Given the description of an element on the screen output the (x, y) to click on. 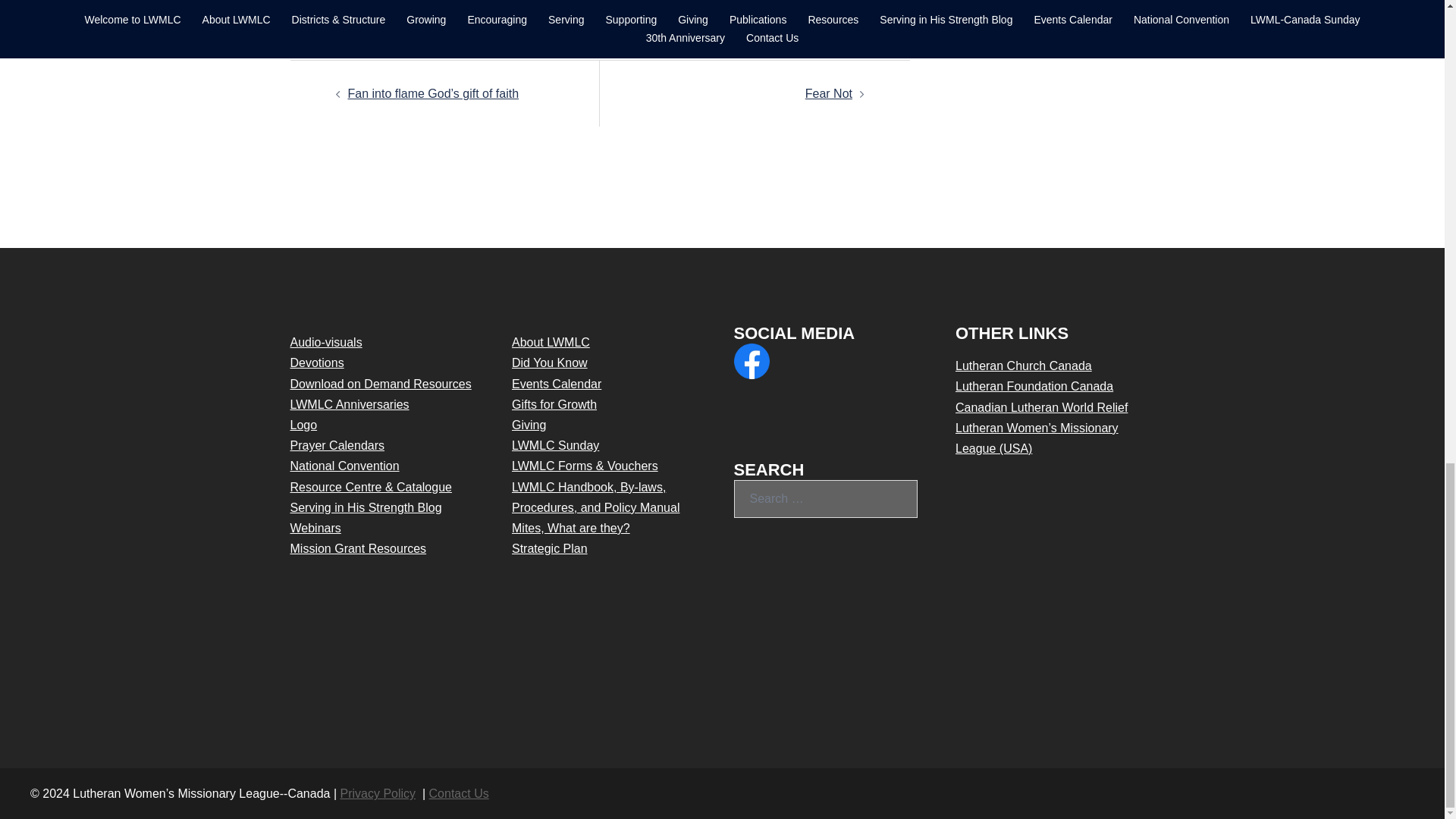
Social Media (751, 361)
